Given the description of an element on the screen output the (x, y) to click on. 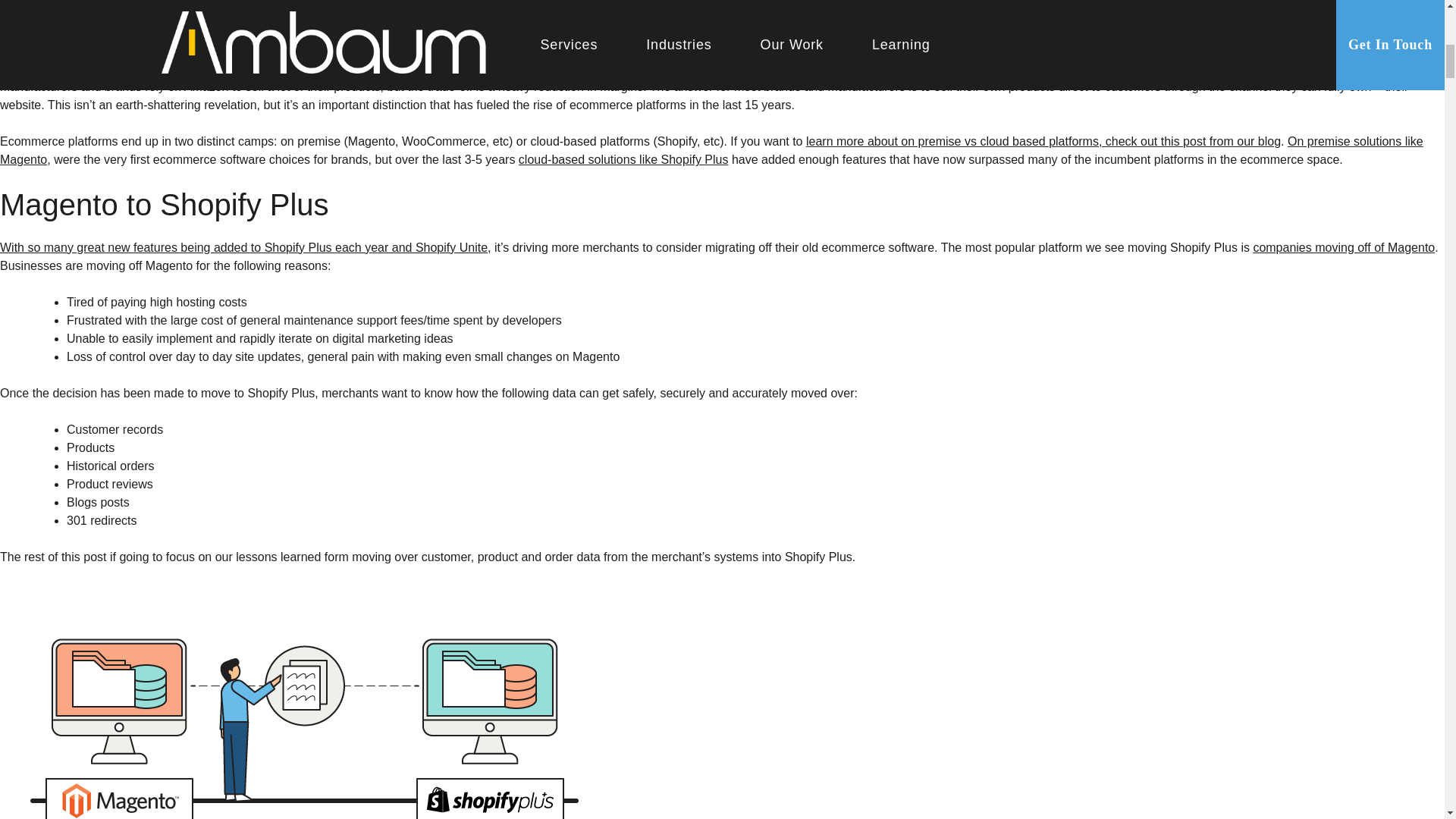
On premise solutions like Magento (711, 150)
cloud-based solutions like Shopify Plus (623, 159)
companies moving off of Magento (1343, 246)
